Given the description of an element on the screen output the (x, y) to click on. 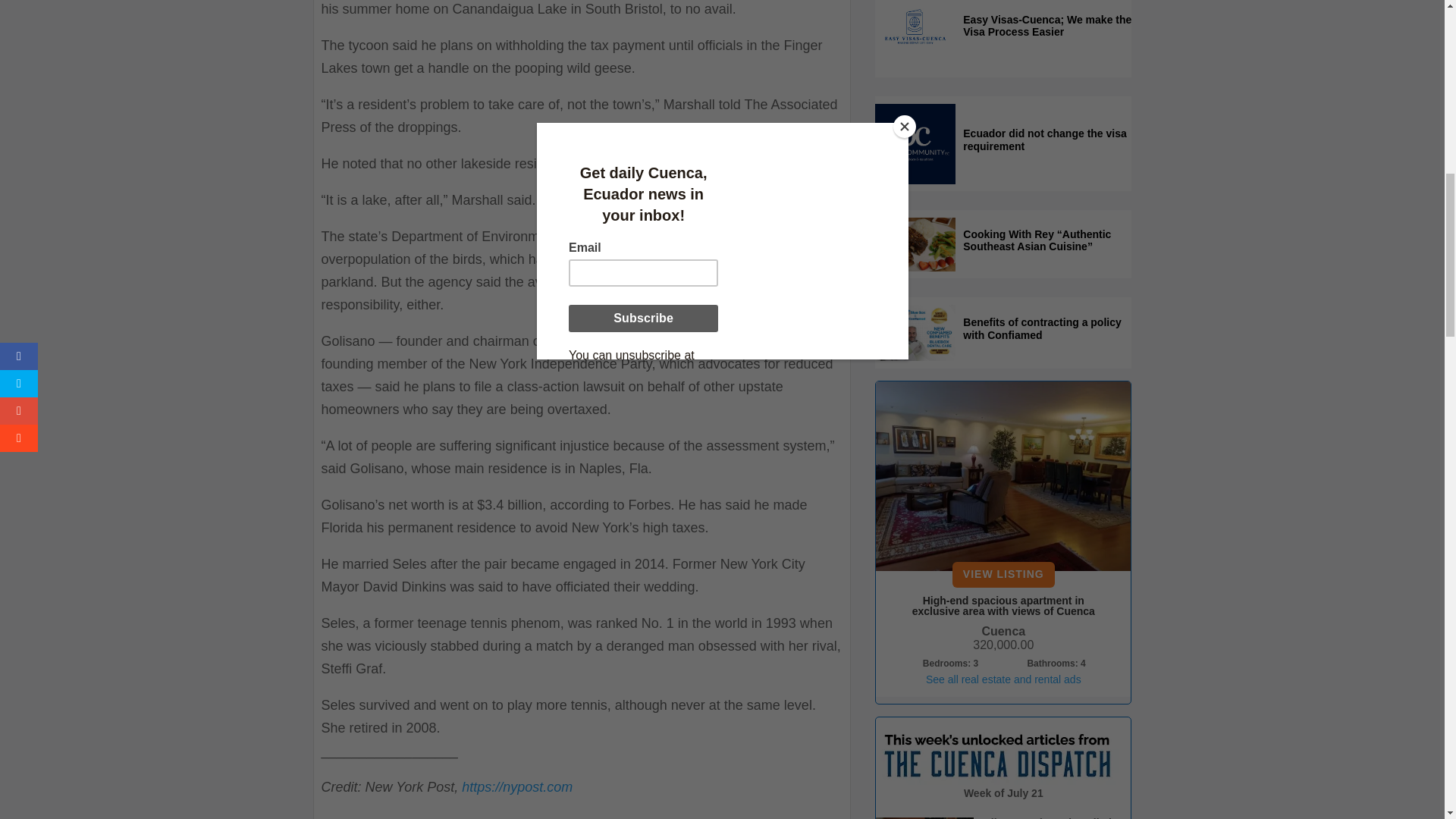
tcd-title (997, 754)
Easy Visas-Cuenca; We make the Visa Process Easier (1046, 29)
Ecuador did not change the visa requirement (1046, 143)
6428 (1003, 476)
